Given the description of an element on the screen output the (x, y) to click on. 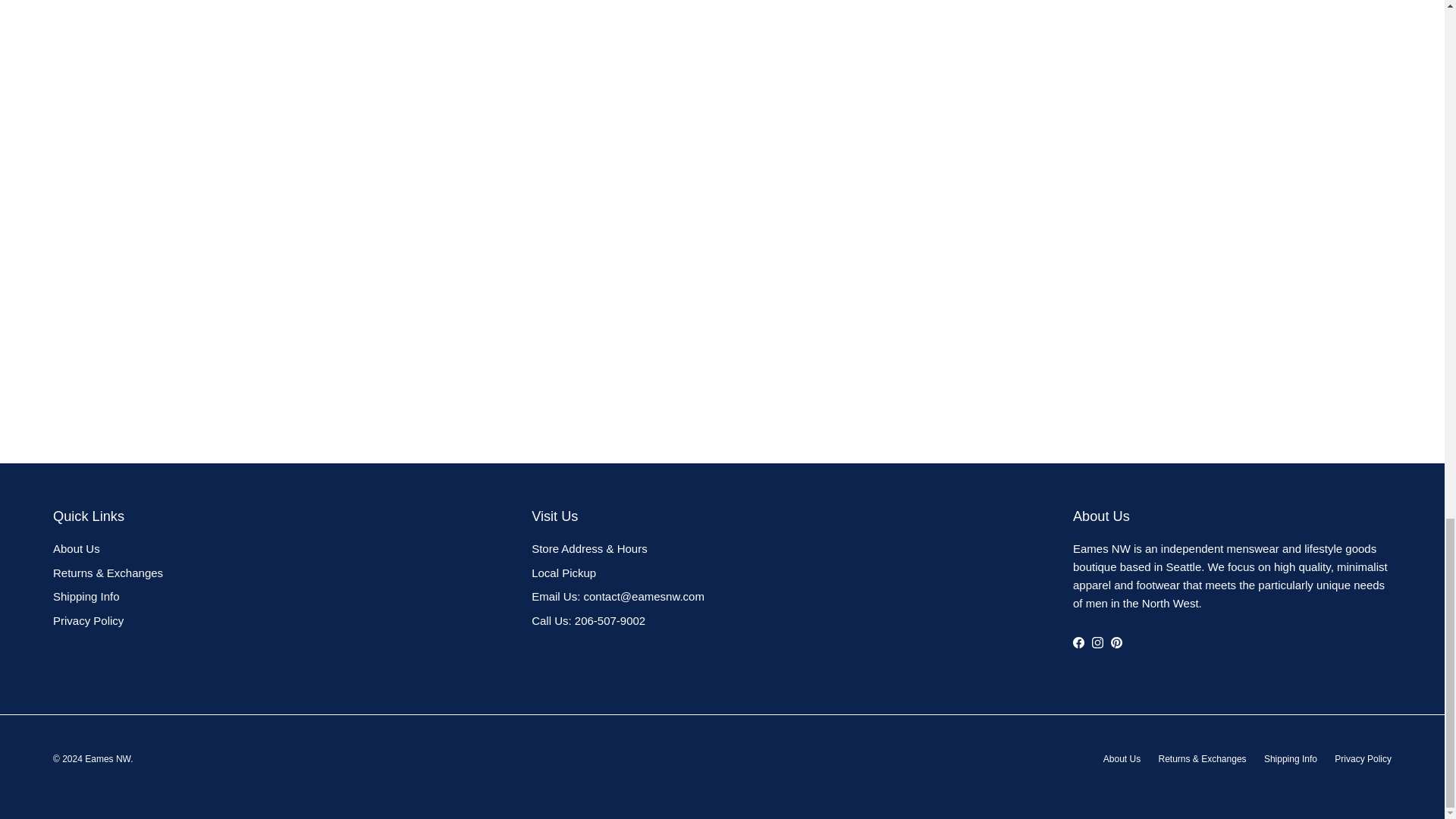
Eames NW on Instagram (1097, 642)
Eames NW on Pinterest (1116, 642)
Eames NW on Facebook (1078, 642)
